Given the description of an element on the screen output the (x, y) to click on. 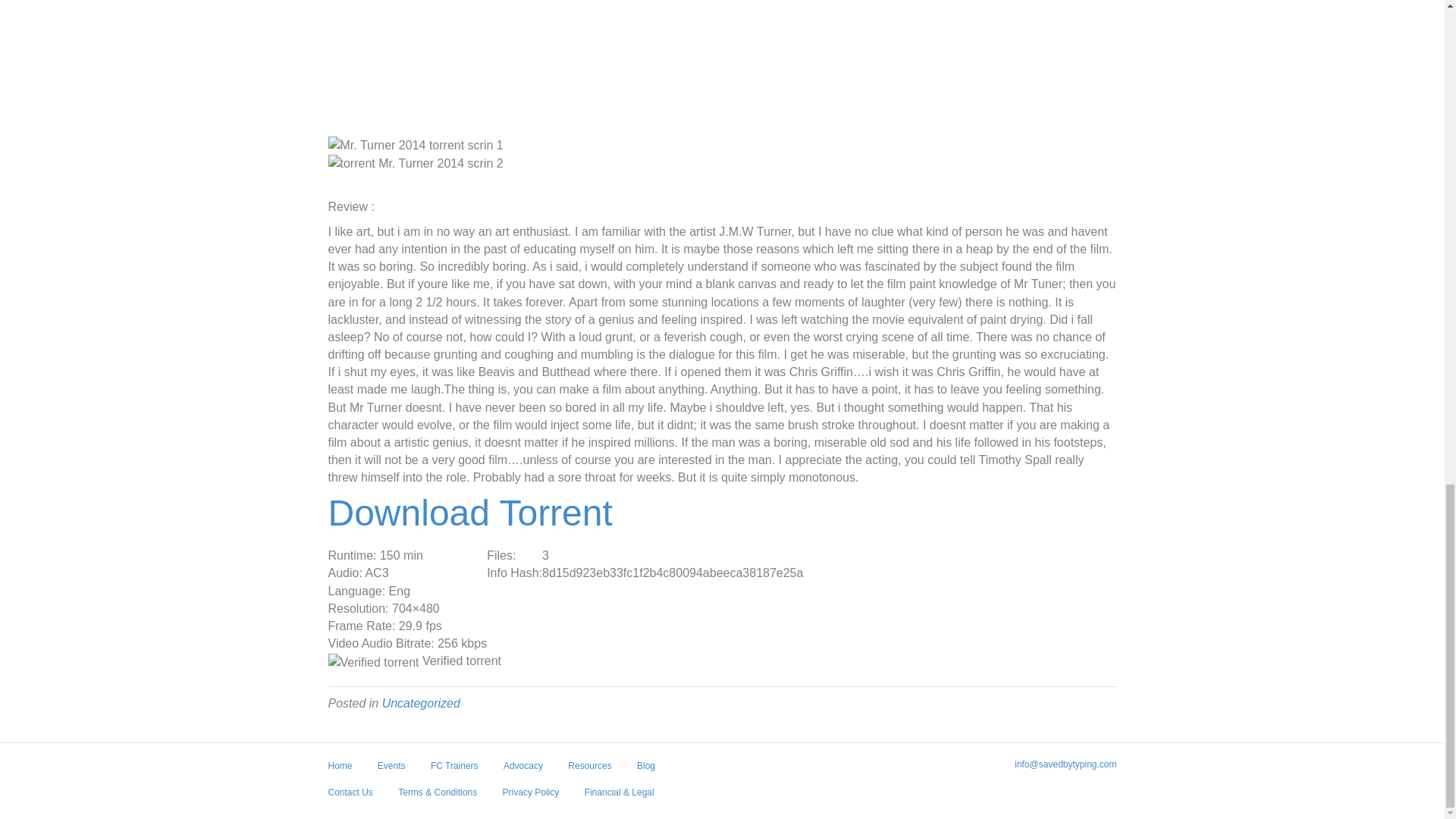
Download Torrent (469, 521)
Blog (646, 771)
Advocacy (523, 771)
Contact Us (350, 797)
Uncategorized (420, 703)
Home (340, 771)
Privacy Policy (531, 797)
Events (391, 771)
Resources (589, 771)
FC Trainers (454, 771)
